Given the description of an element on the screen output the (x, y) to click on. 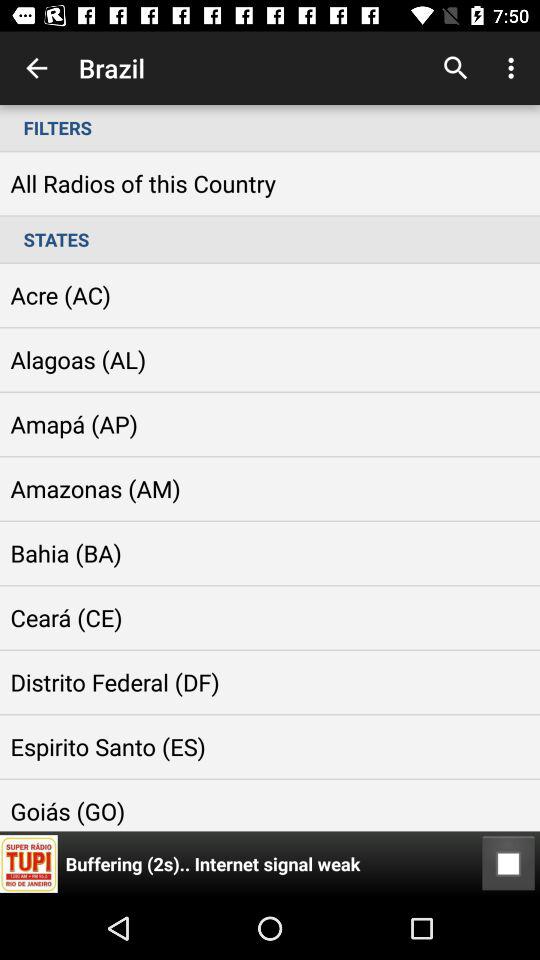
press item below the states item (508, 863)
